Given the description of an element on the screen output the (x, y) to click on. 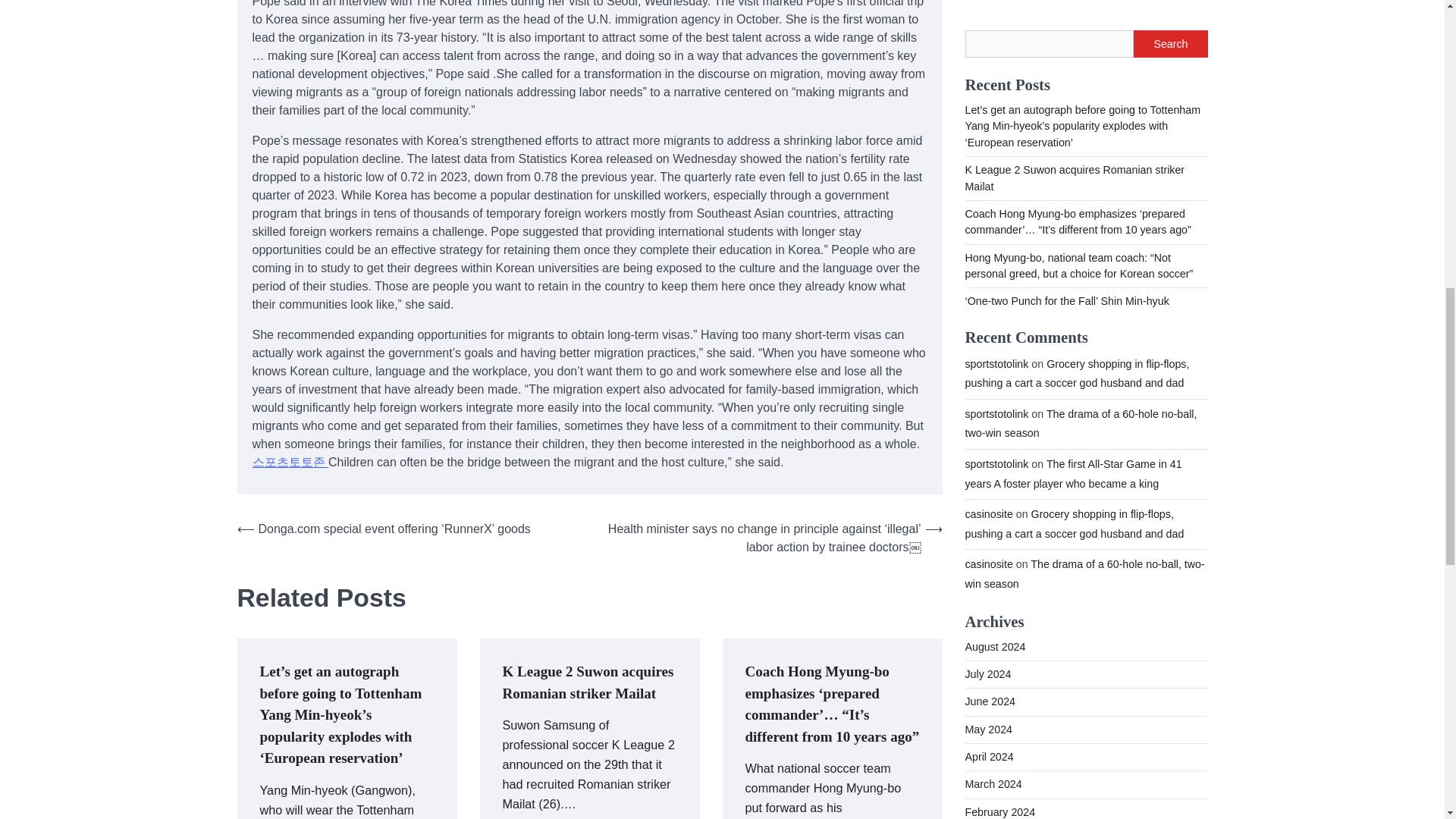
June 2024 (988, 44)
May 2024 (987, 72)
K League 2 Suwon acquires Romanian striker Mailat (587, 682)
July 2024 (986, 17)
April 2024 (988, 100)
